Given the description of an element on the screen output the (x, y) to click on. 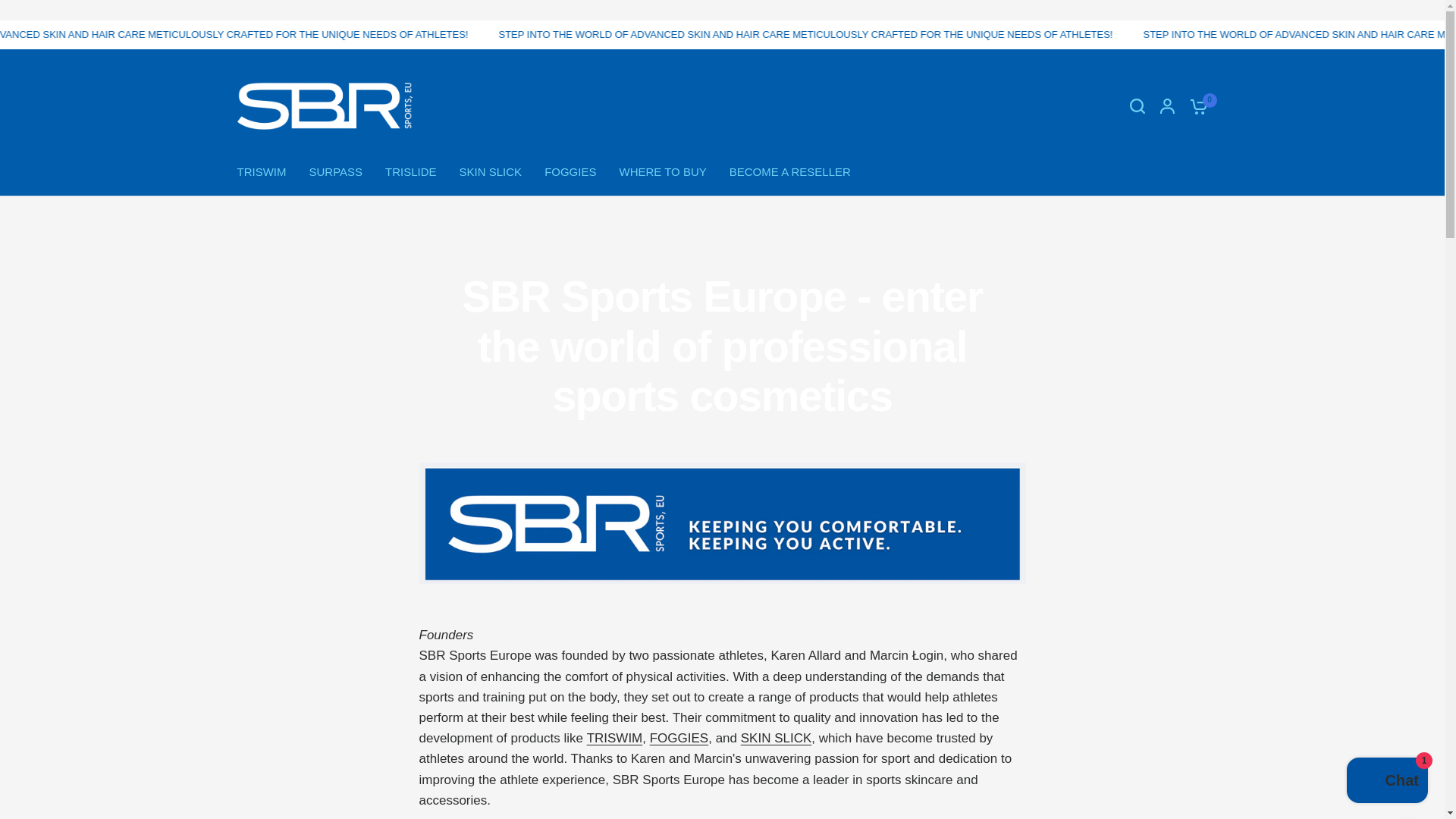
BECOME A RESELLER (789, 171)
TRISLIDE (410, 171)
SKIN SLICK (491, 171)
FOGGIES (569, 171)
TRISWIM (260, 171)
SURPASS (335, 171)
WHERE TO BUY (662, 171)
